Given the description of an element on the screen output the (x, y) to click on. 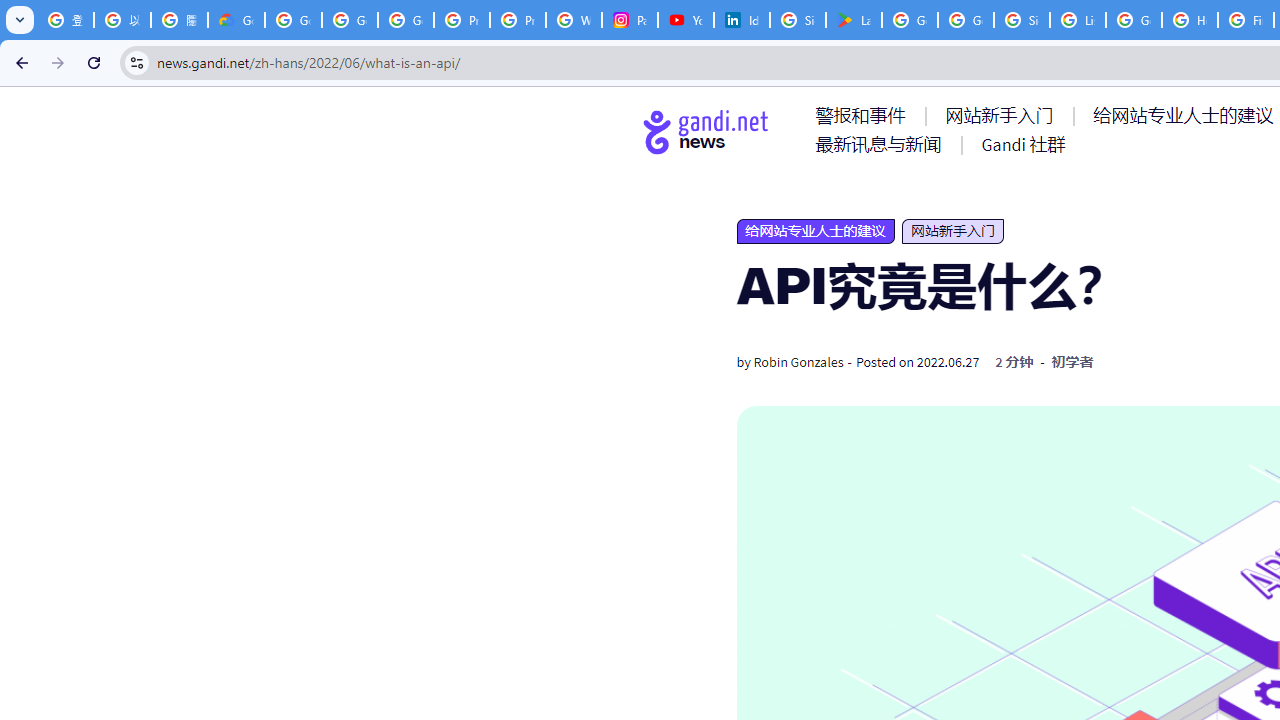
Robin Gonzales (797, 362)
Google Workspace - Specific Terms (966, 20)
How do I create a new Google Account? - Google Account Help (1190, 20)
Sign in - Google Accounts (1021, 20)
AutomationID: menu-item-77762 (1003, 115)
